Given the description of an element on the screen output the (x, y) to click on. 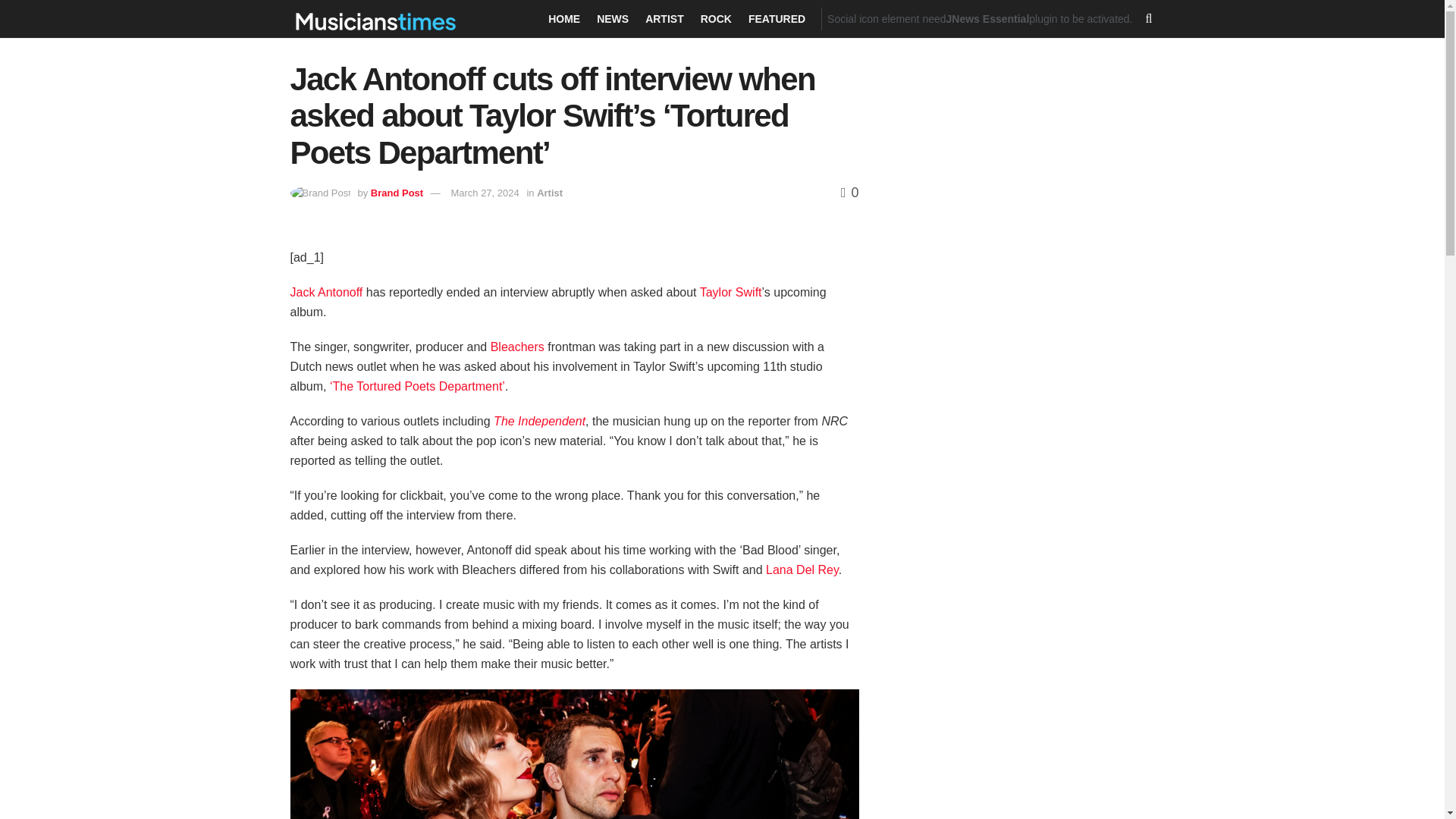
Jack Antonoff (325, 291)
March 27, 2024 (483, 192)
Bleachers (517, 346)
0 (850, 192)
Brand Post (397, 192)
The Independent (537, 420)
Lana Del Rey (800, 569)
Taylor Swift (730, 291)
ARTIST (664, 18)
Artist (549, 192)
FEATURED (776, 18)
